Given the description of an element on the screen output the (x, y) to click on. 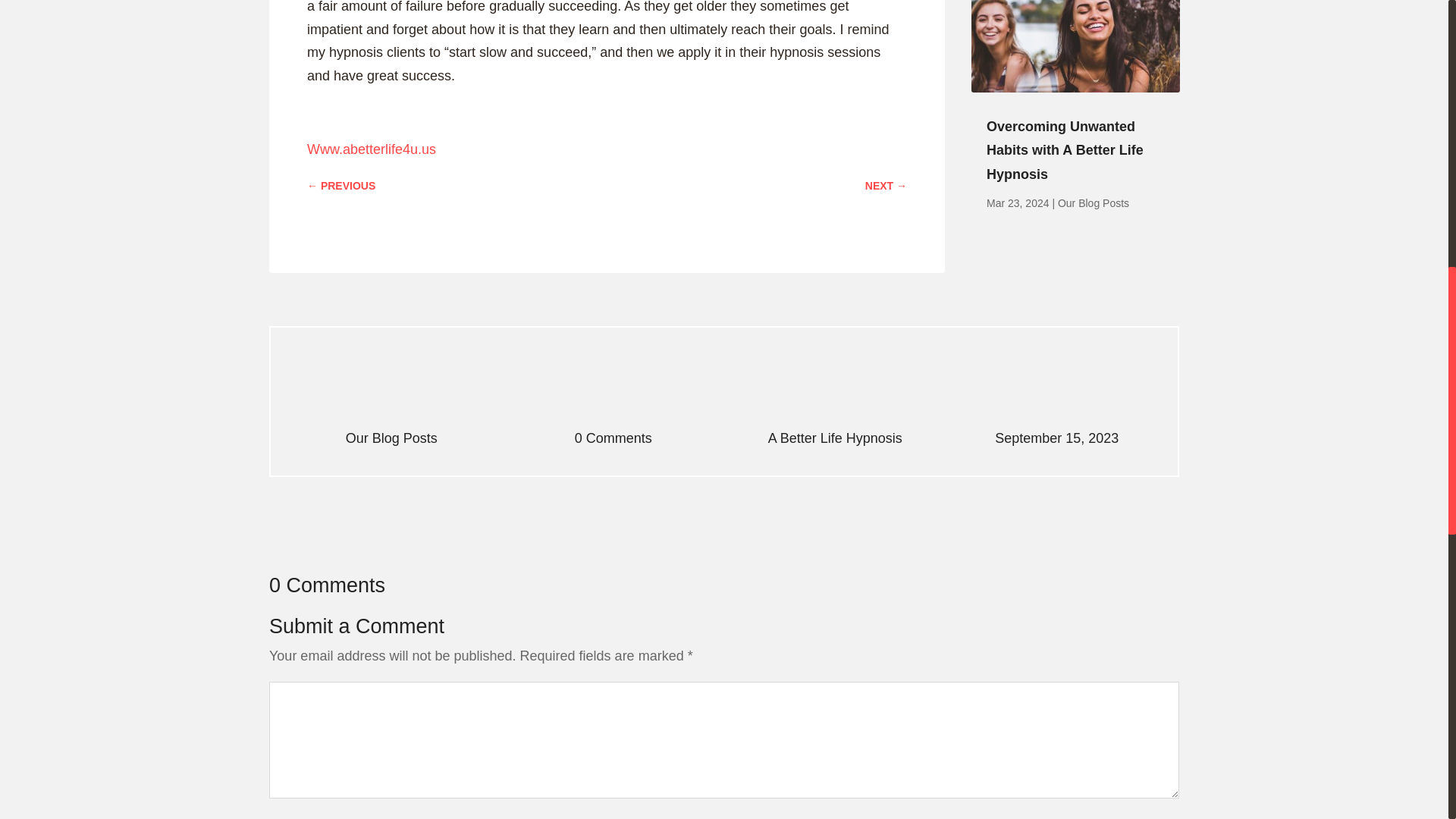
Our Blog Posts (392, 437)
0 Comments (613, 437)
Overcoming Unwanted Habits with A Better Life Hypnosis (1064, 149)
Our Blog Posts (1093, 203)
Www.abetterlife4u.us (371, 149)
